Given the description of an element on the screen output the (x, y) to click on. 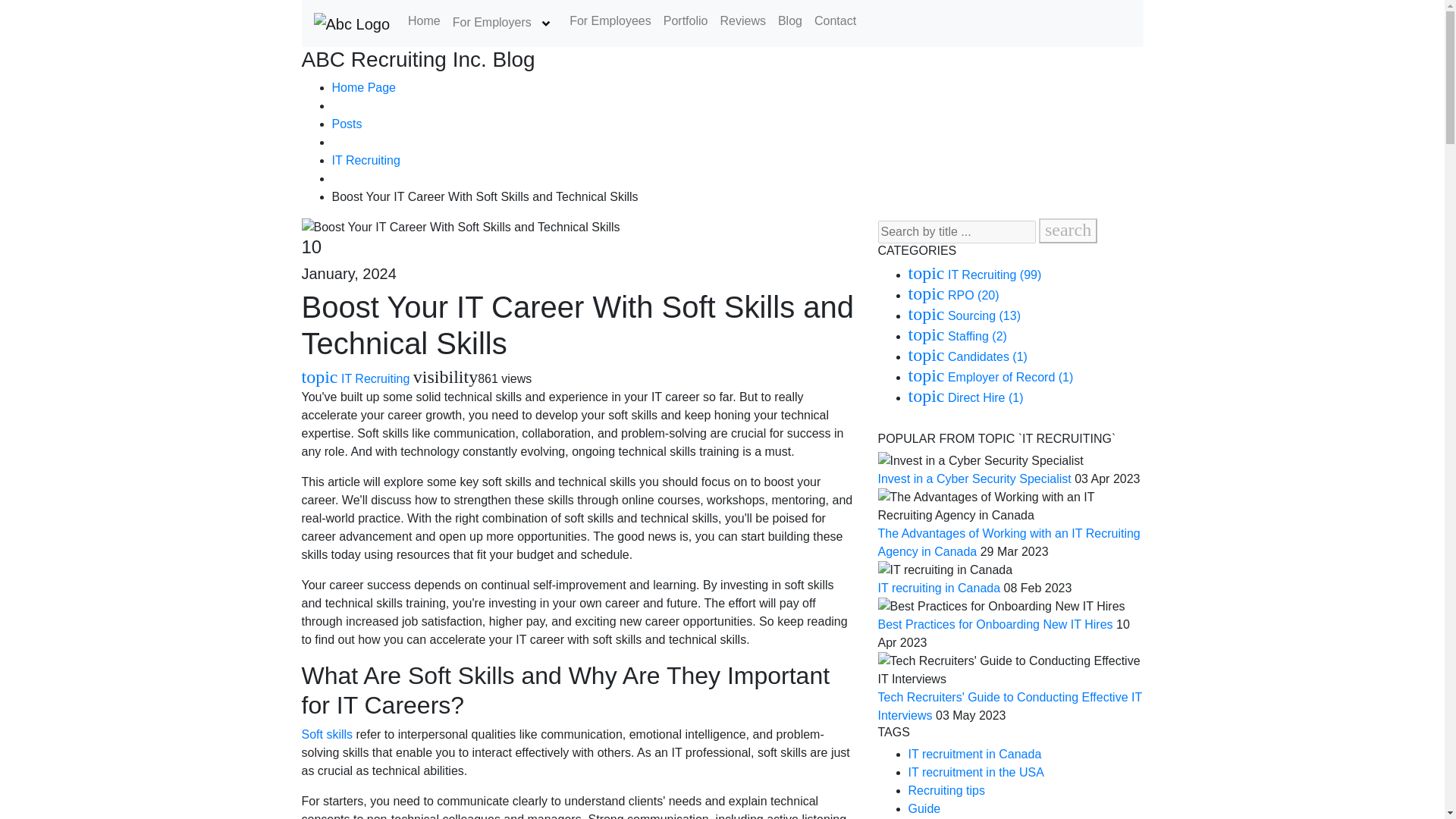
IT Recruiting (365, 160)
Home (423, 20)
Contact (834, 20)
search (1068, 230)
Blog (789, 20)
topic IT Recruiting (355, 378)
Portfolio (686, 20)
Soft skills (327, 734)
Home Page (363, 87)
For Employees (610, 20)
Posts (346, 123)
For Employers (504, 22)
Reviews (742, 20)
